Given the description of an element on the screen output the (x, y) to click on. 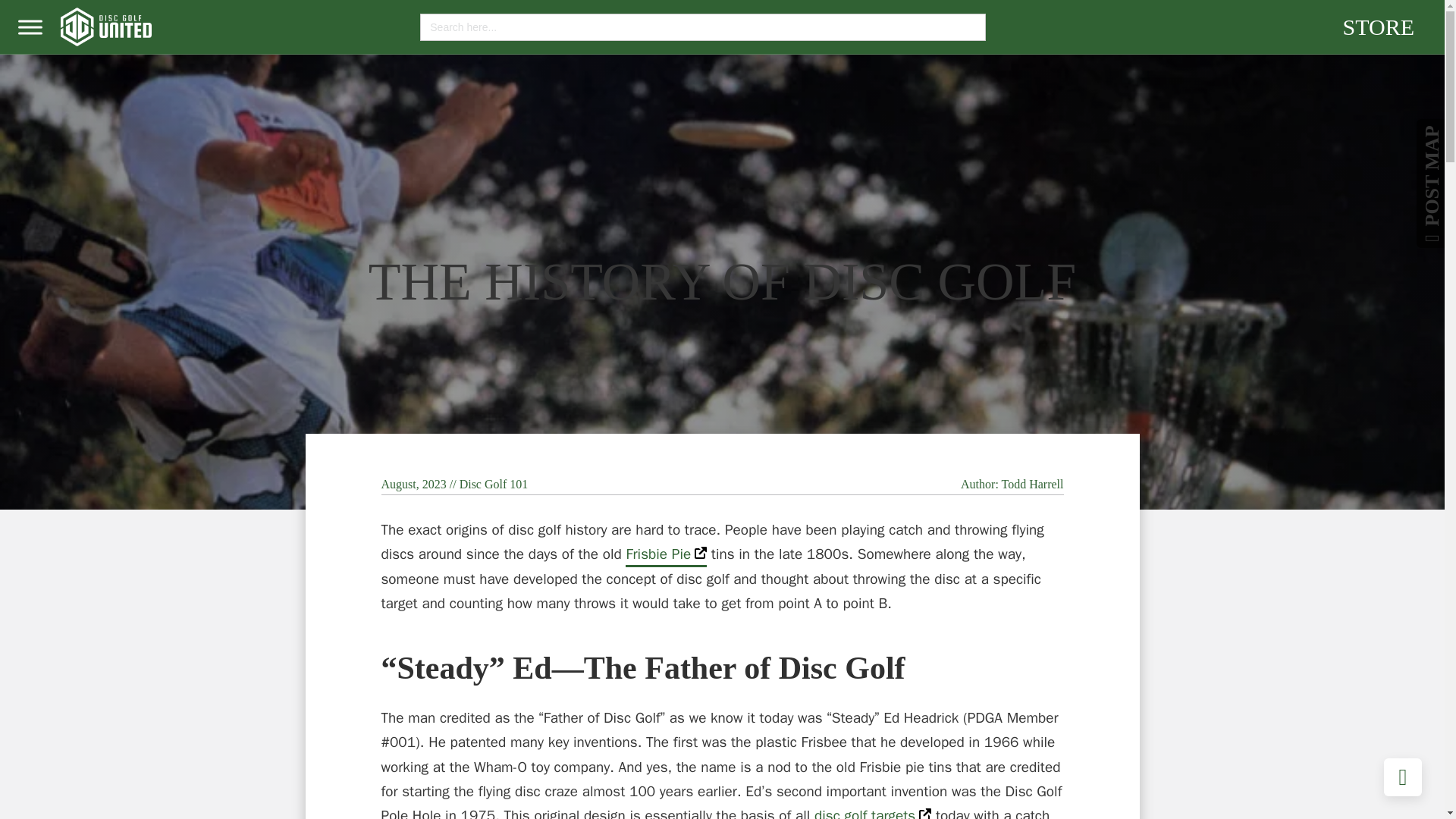
Innova Disc Golf Targets (872, 812)
STORE (1377, 26)
Link goes to external site. (924, 812)
Frisbie Pies Wiki (666, 556)
